Given the description of an element on the screen output the (x, y) to click on. 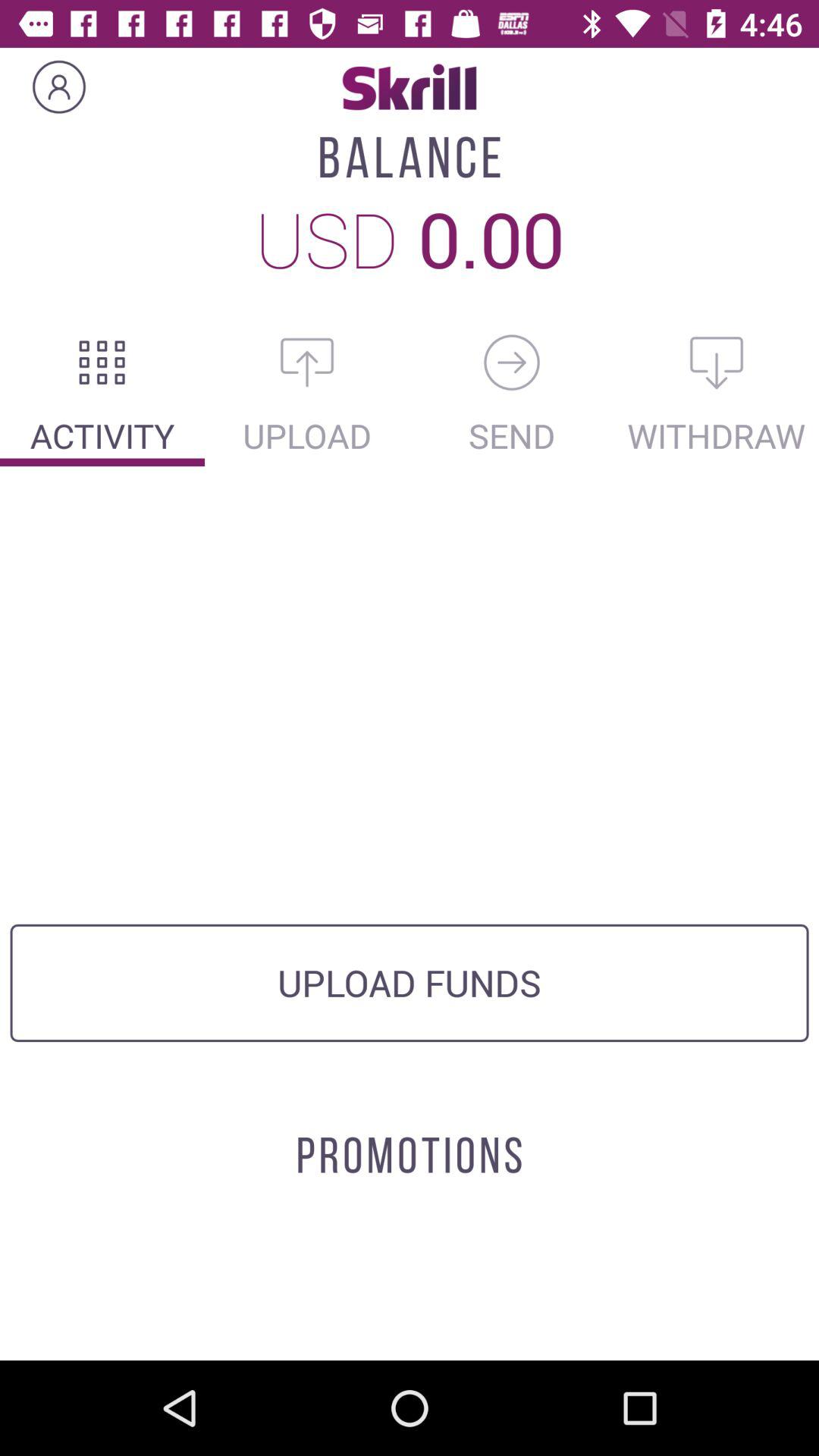
activity button (102, 362)
